Given the description of an element on the screen output the (x, y) to click on. 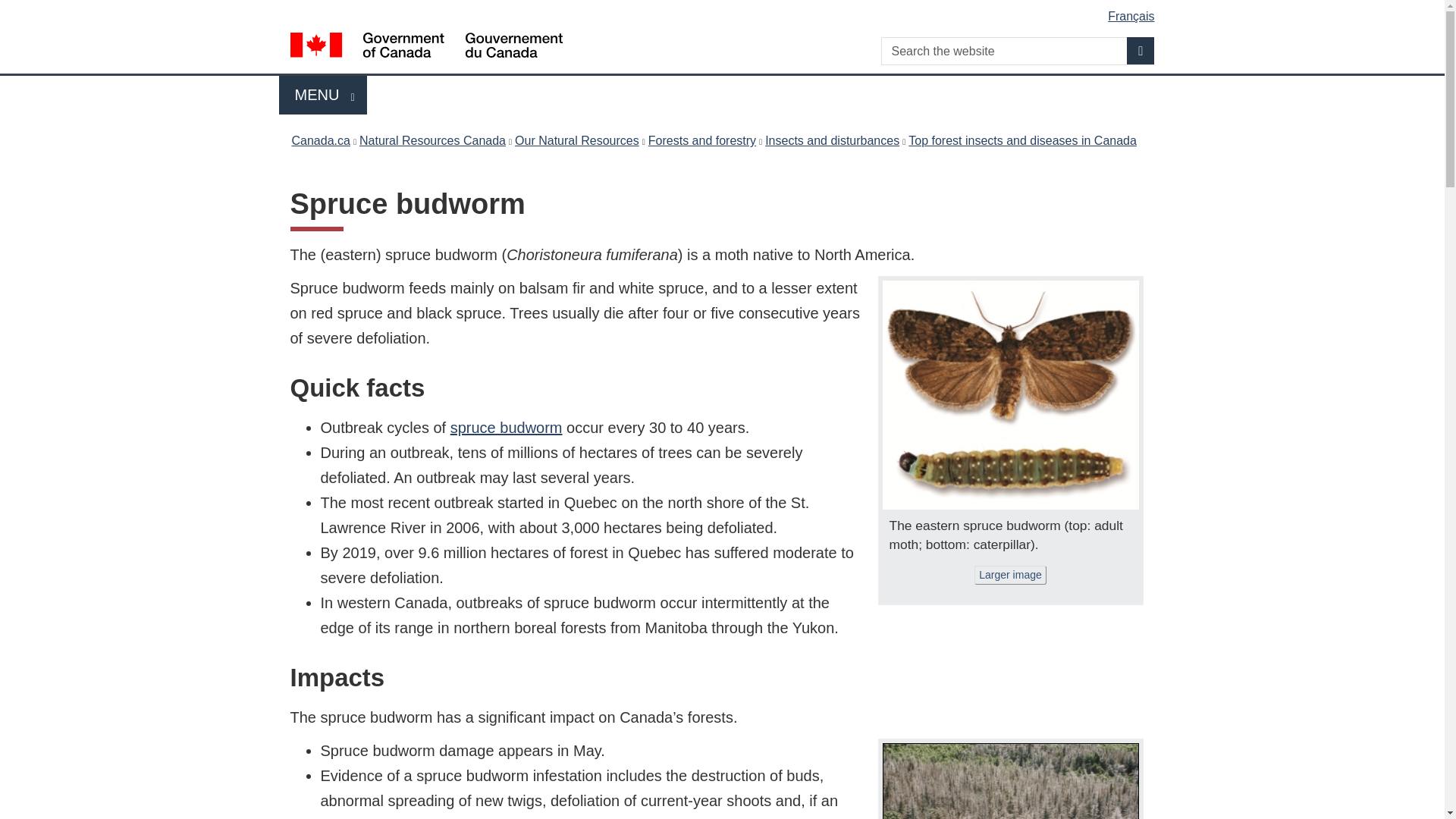
Larger image (1010, 574)
Canada.ca (320, 140)
Top forest insects and diseases in Canada (1022, 140)
Search (1140, 50)
Insects and disturbances (832, 140)
Natural Resources Canada (432, 140)
Our Natural Resources (322, 95)
spruce budworm (577, 140)
Forests and forestry (505, 427)
